Given the description of an element on the screen output the (x, y) to click on. 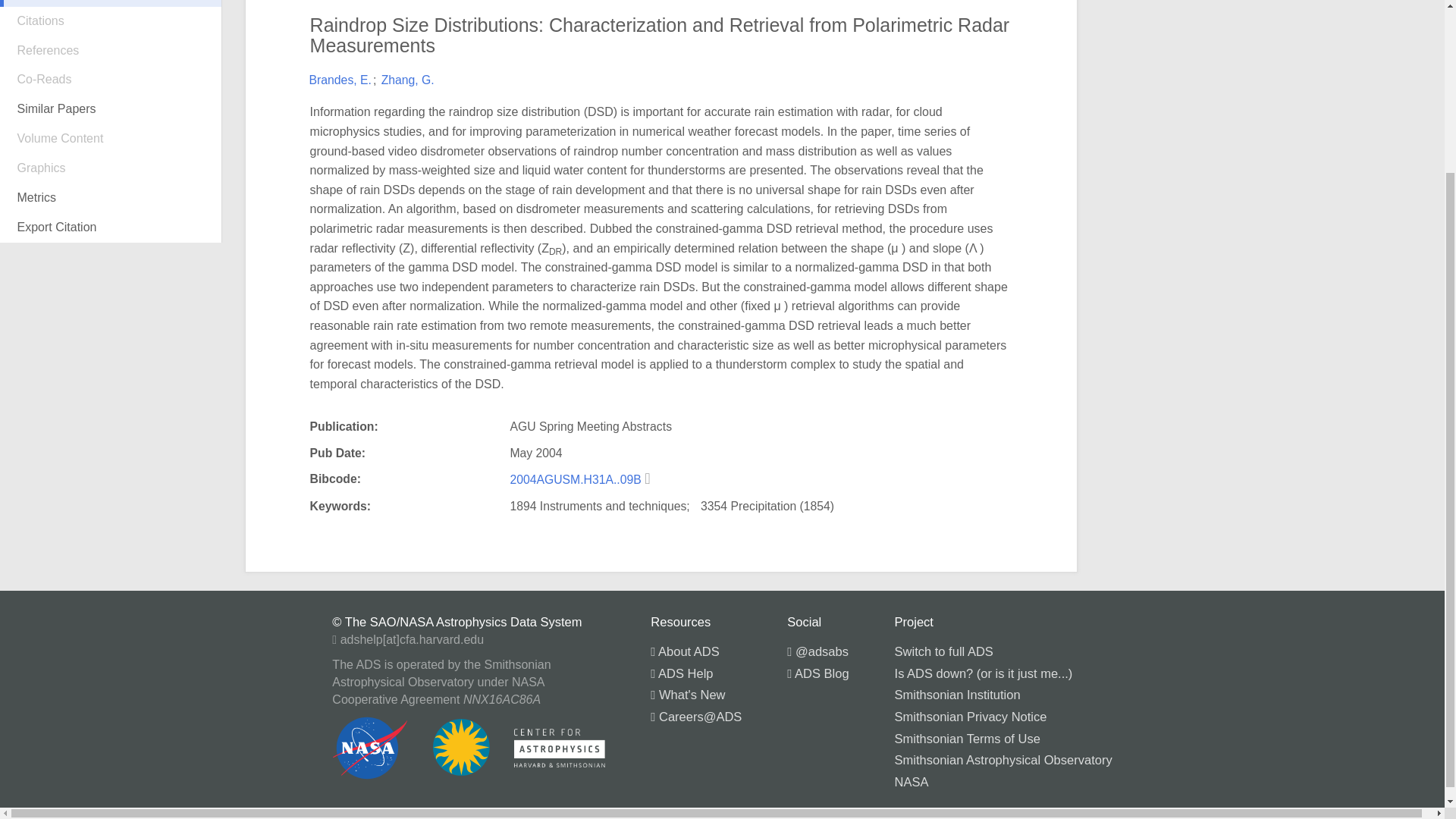
Similar Papers (110, 109)
Switch to full ADS (943, 651)
Brandes, E. (339, 79)
What's New (687, 694)
Export Citation (110, 227)
Zhang, G. (407, 79)
2004AGUSM.H31A..09B (577, 479)
Smithsonian Institution (957, 694)
NASA (911, 781)
Metrics (110, 197)
ADS Blog (817, 673)
Abstract (110, 15)
Smithsonian Terms of Use (968, 738)
Harvard Center for Astrophysics logo (559, 747)
Smithsonian Astrophysical Observatory (1003, 759)
